Given the description of an element on the screen output the (x, y) to click on. 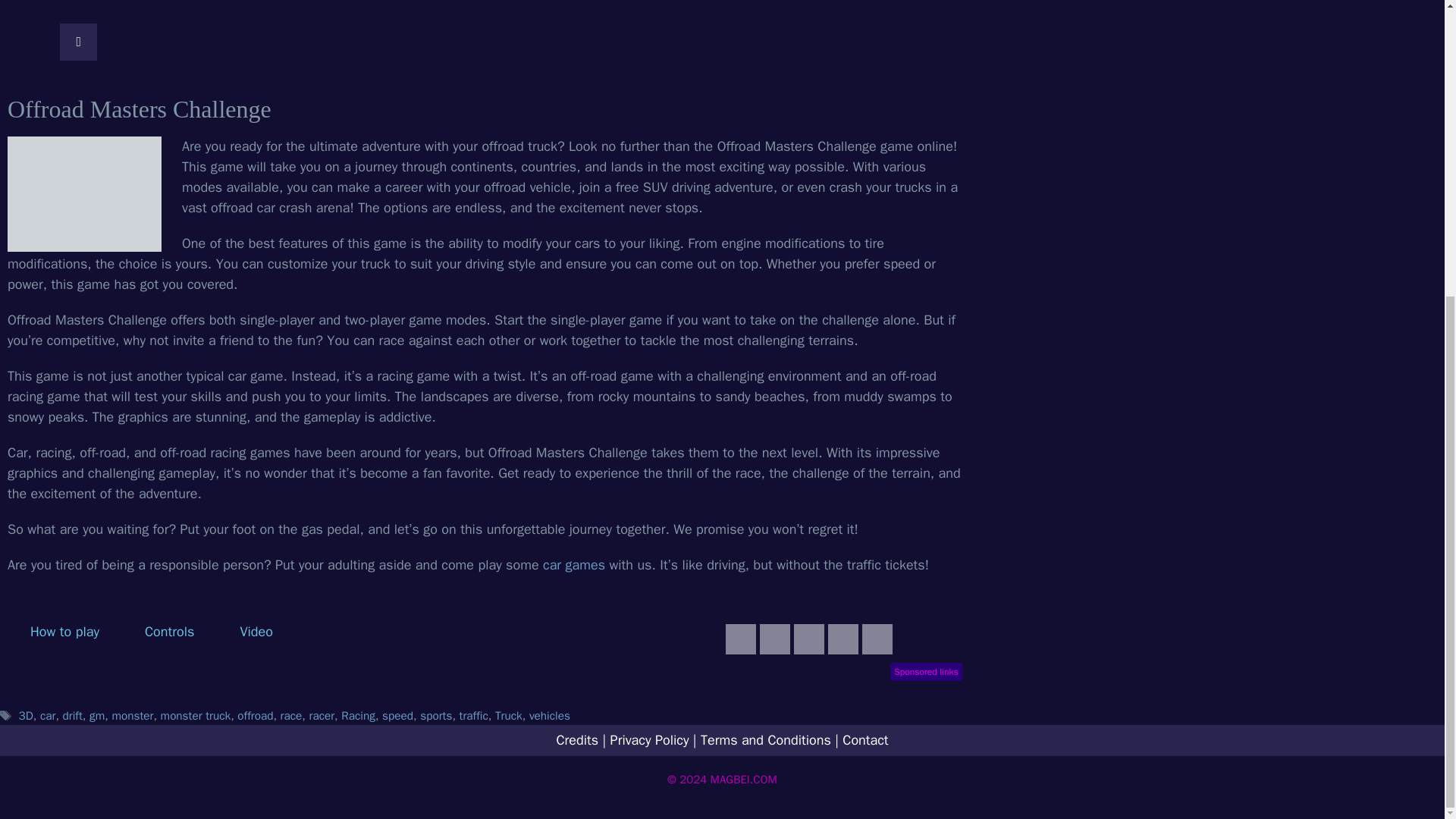
Offroad Masters Challenge (84, 193)
Twitter (808, 639)
Offroad Masters Challenge (843, 639)
Facebook (775, 639)
RSS (740, 639)
